Given the description of an element on the screen output the (x, y) to click on. 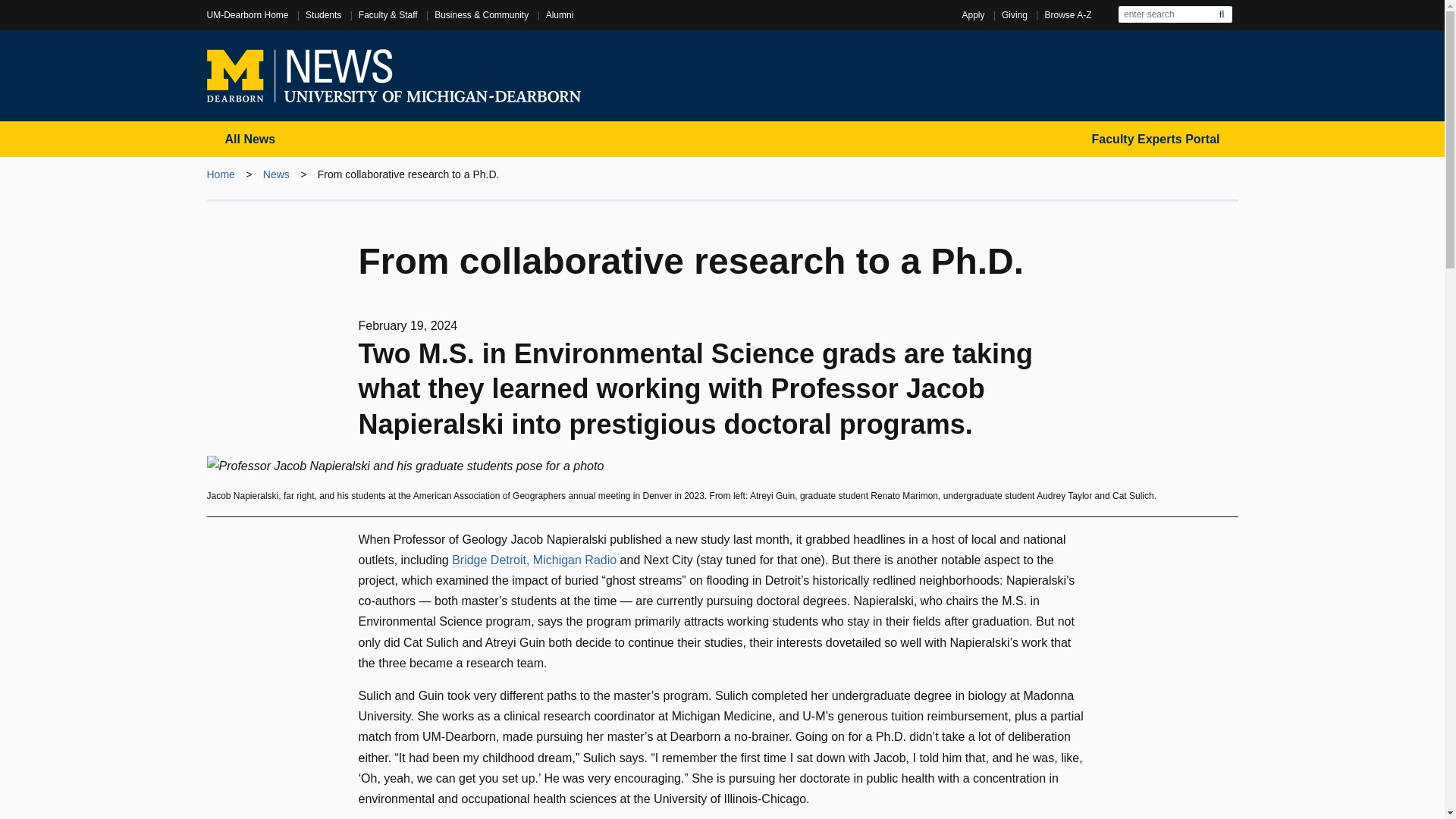
Michigan Radio (573, 560)
UM-Dearborn Home (247, 14)
Search (1221, 14)
Home (220, 174)
Giving (1014, 14)
Students (322, 14)
Browse A-Z (1066, 14)
Bridge Detroit, (490, 560)
News (276, 174)
Alumni (559, 14)
All News (250, 139)
Faculty Experts Portal (1156, 139)
Skip to main content (721, 6)
Apply (972, 14)
